Given the description of an element on the screen output the (x, y) to click on. 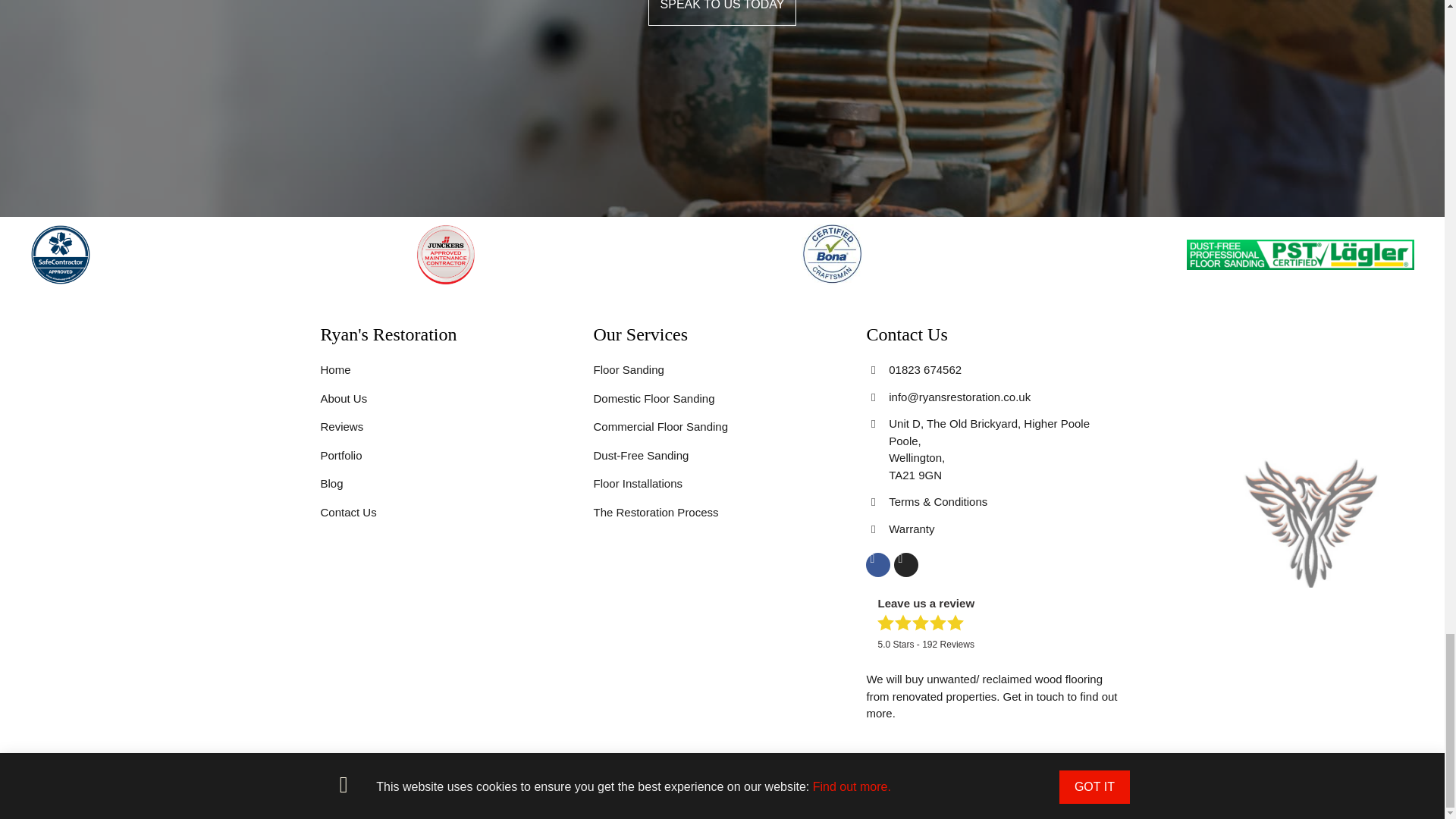
Home (449, 370)
SPEAK TO US TODAY (721, 13)
Blog (449, 484)
Portfolio (449, 456)
About Us (449, 398)
Contact Us (449, 512)
Reviews (449, 426)
